Given the description of an element on the screen output the (x, y) to click on. 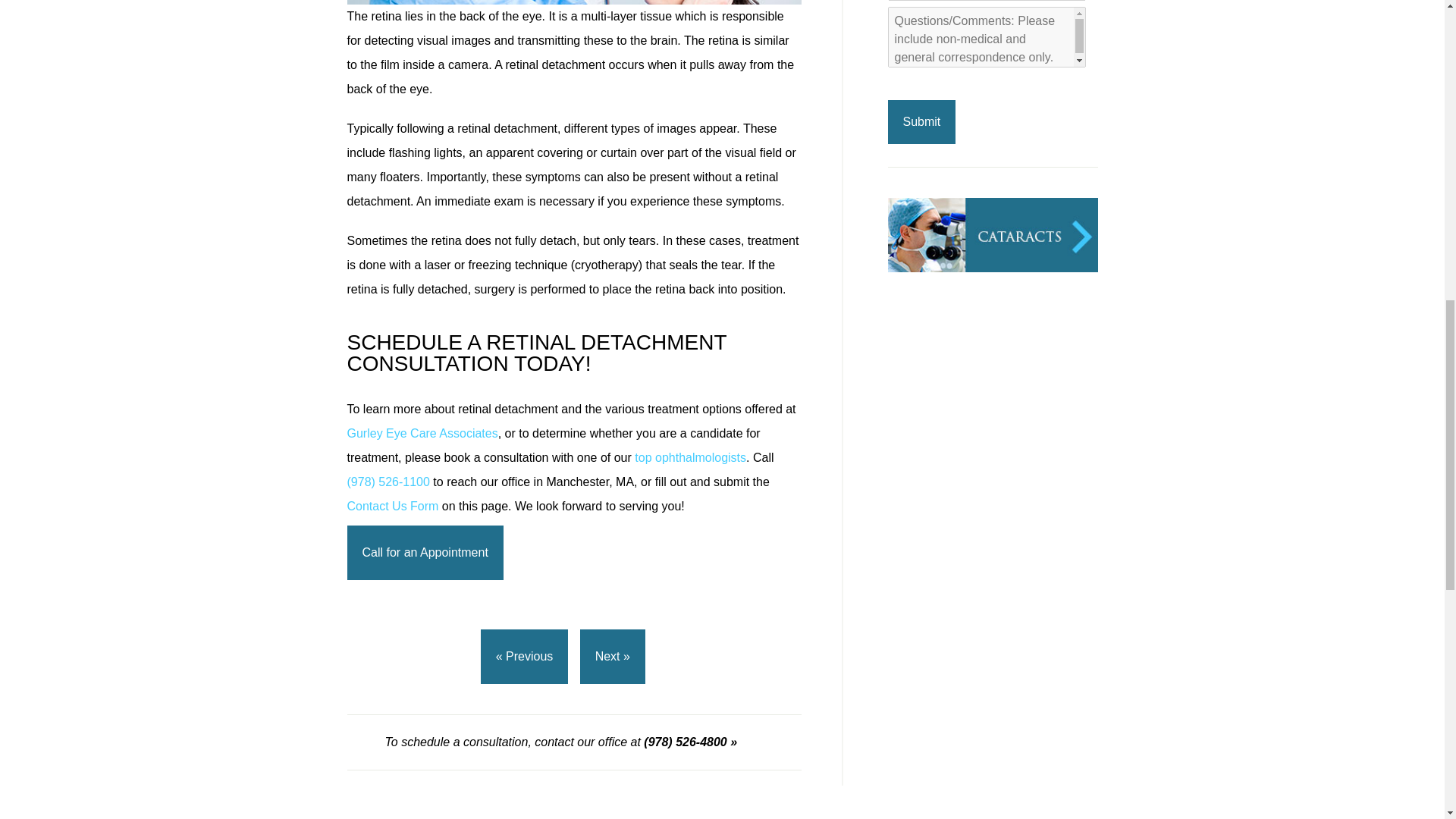
Diabetic Retinopathy (991, 431)
Glaucoma (991, 349)
Comprehensive Eye Care (991, 513)
Submit (920, 121)
Cataracts (991, 267)
